Given the description of an element on the screen output the (x, y) to click on. 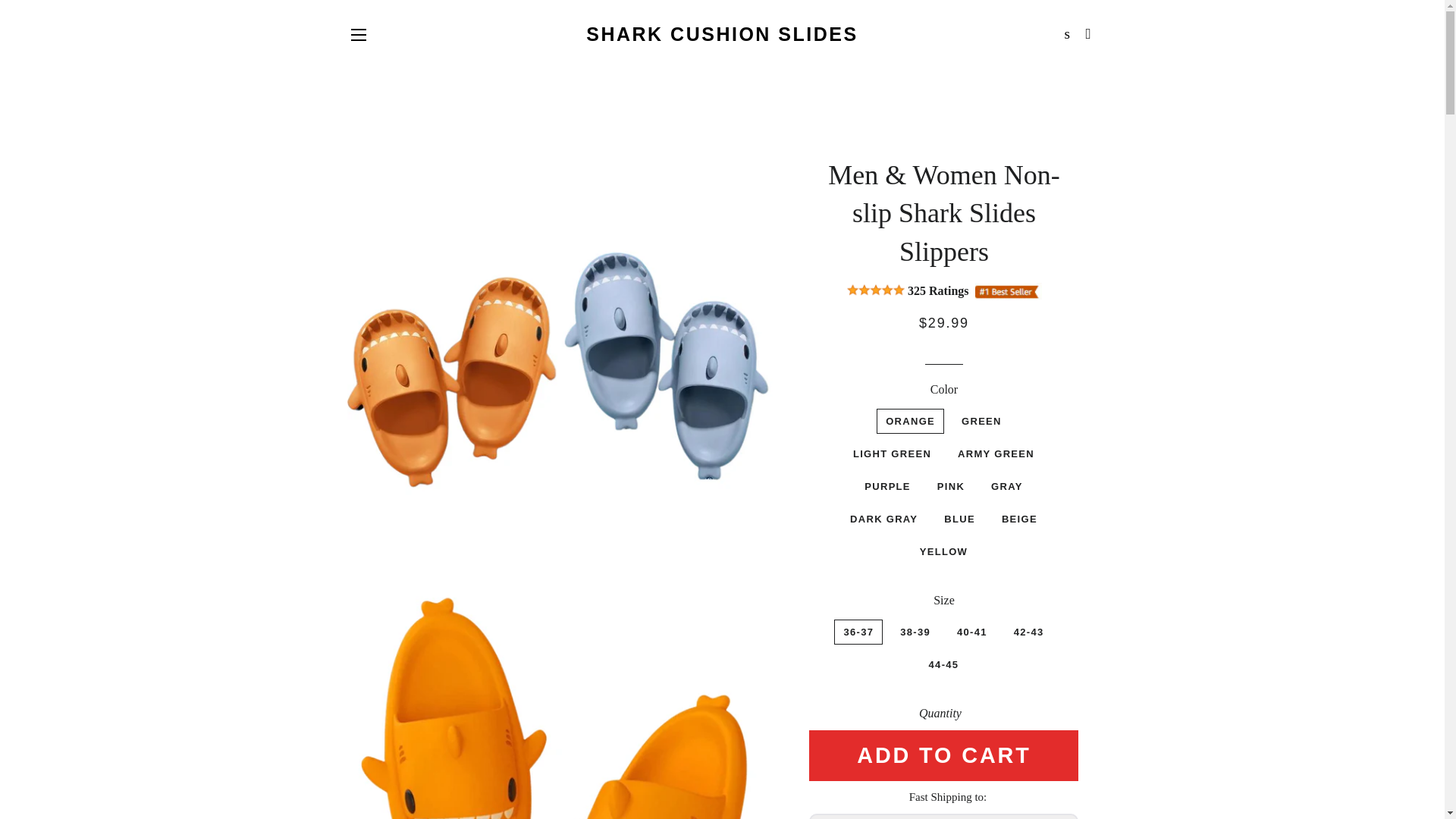
SHARK CUSHION SLIDES (721, 34)
ADD TO CART (943, 755)
SITE NAVIGATION (358, 34)
